Given the description of an element on the screen output the (x, y) to click on. 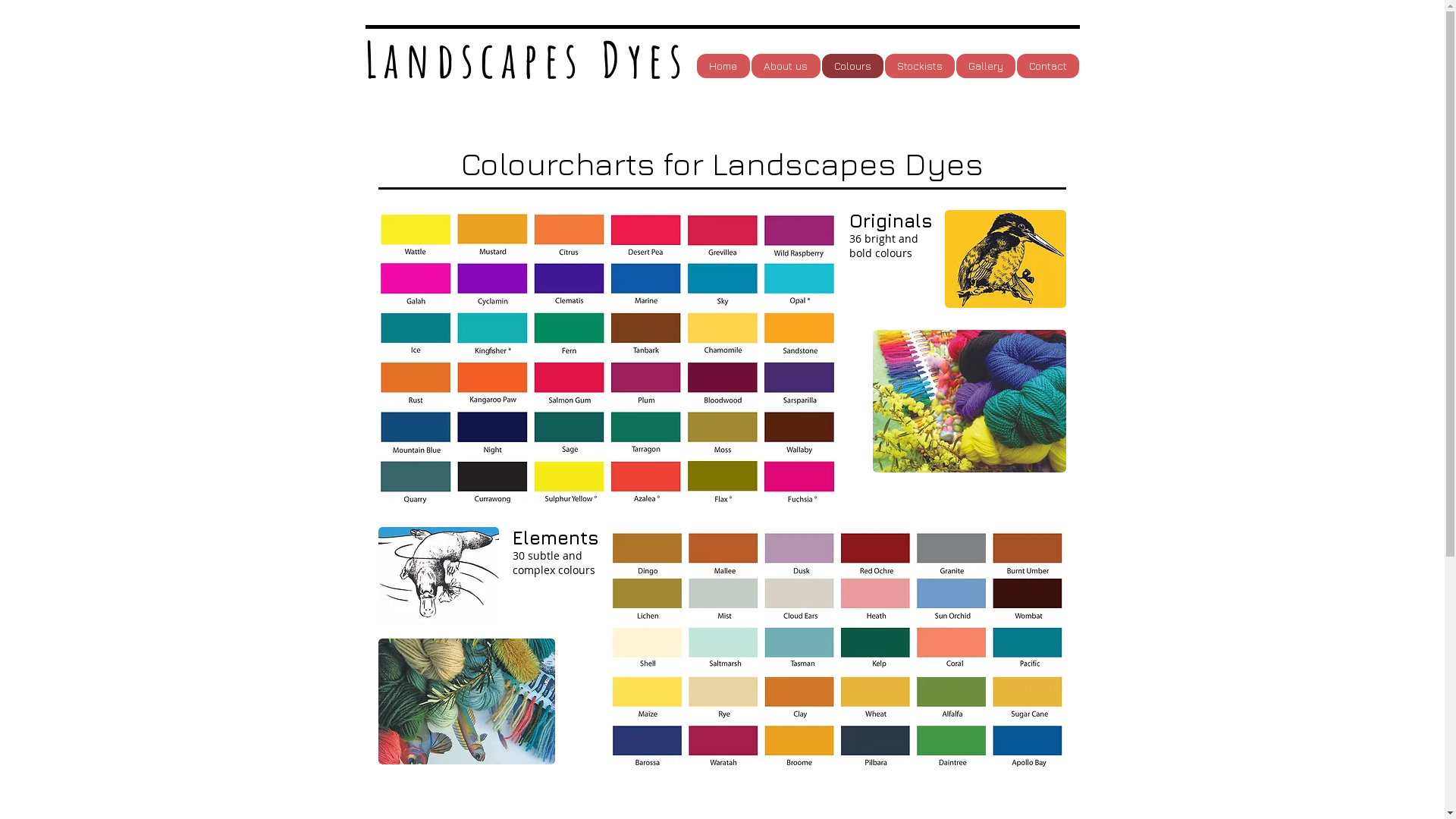
Colours Element type: text (852, 65)
Home Element type: text (722, 65)
About us Element type: text (784, 65)
Gallery Element type: text (984, 65)
Contact Element type: text (1047, 65)
Stockists Element type: text (918, 65)
